Given the description of an element on the screen output the (x, y) to click on. 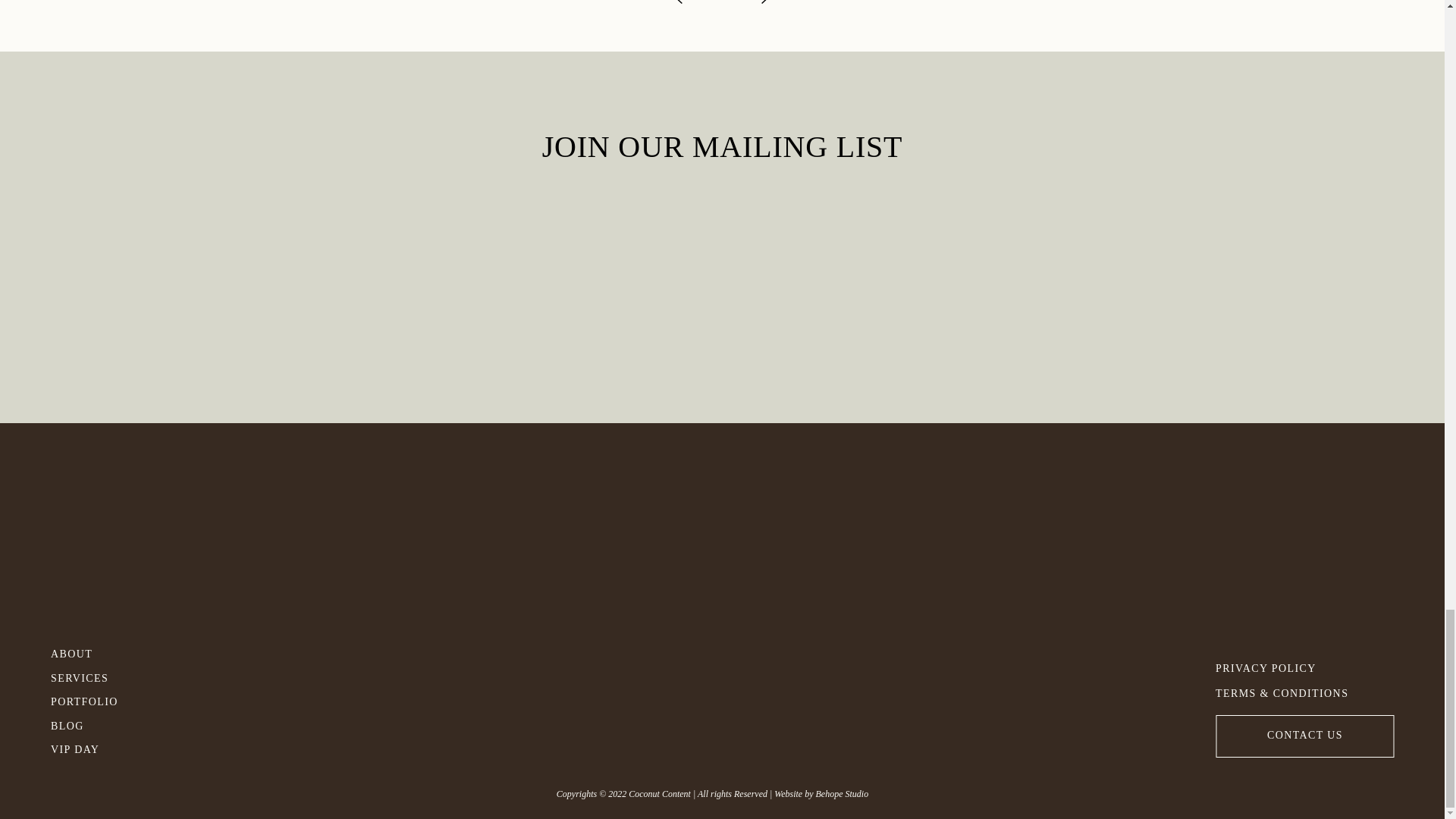
PORTFOLIO (98, 699)
SERVICES (98, 676)
Good Copy Is Your Most Powerful Tool (749, 18)
BLOG (98, 723)
PRIVACY POLICY (1280, 666)
CONTACT US (1304, 732)
ABOUT (73, 651)
VIP DAY (98, 747)
